Given the description of an element on the screen output the (x, y) to click on. 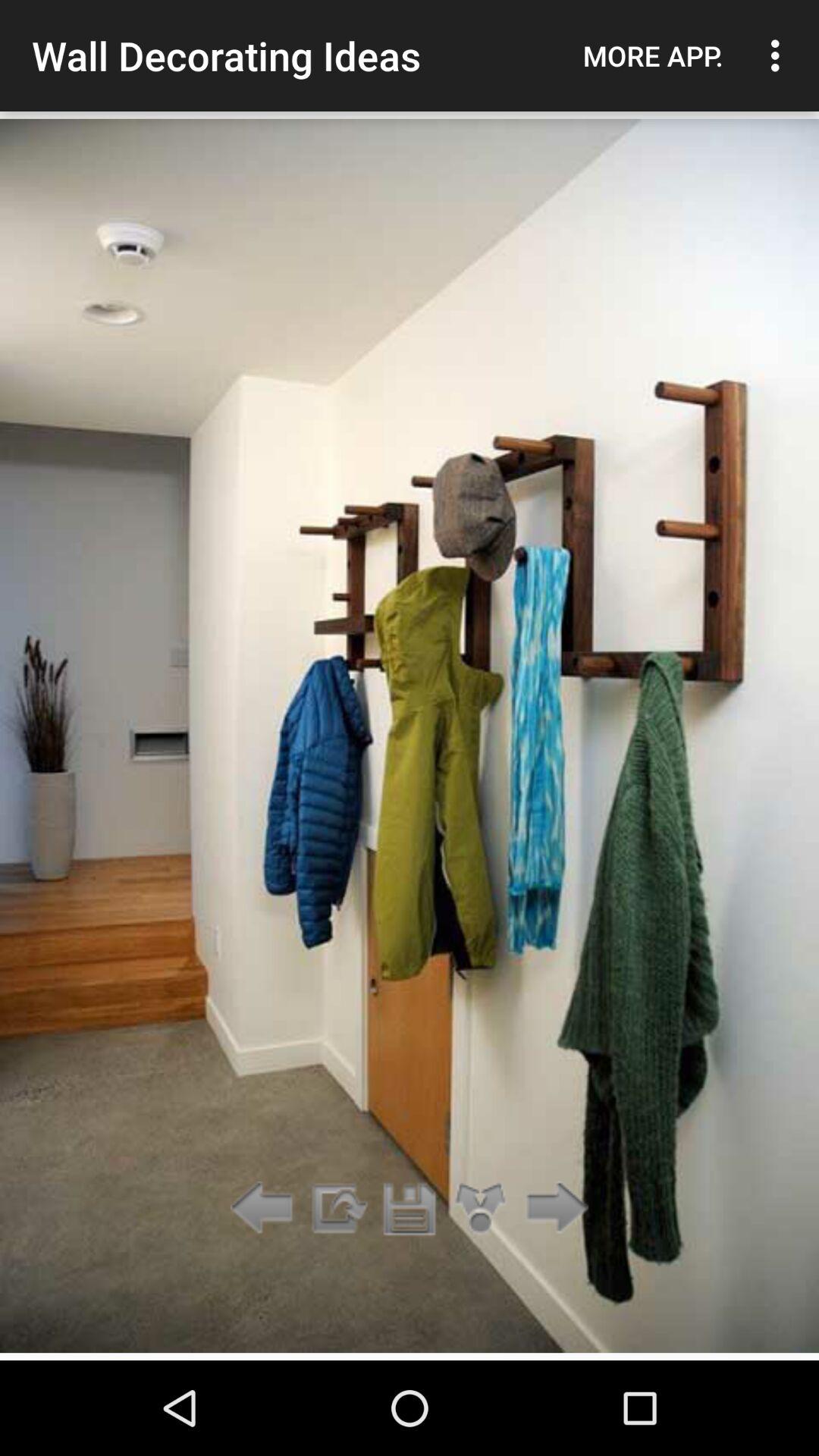
choose app below wall decorating ideas item (337, 1208)
